Given the description of an element on the screen output the (x, y) to click on. 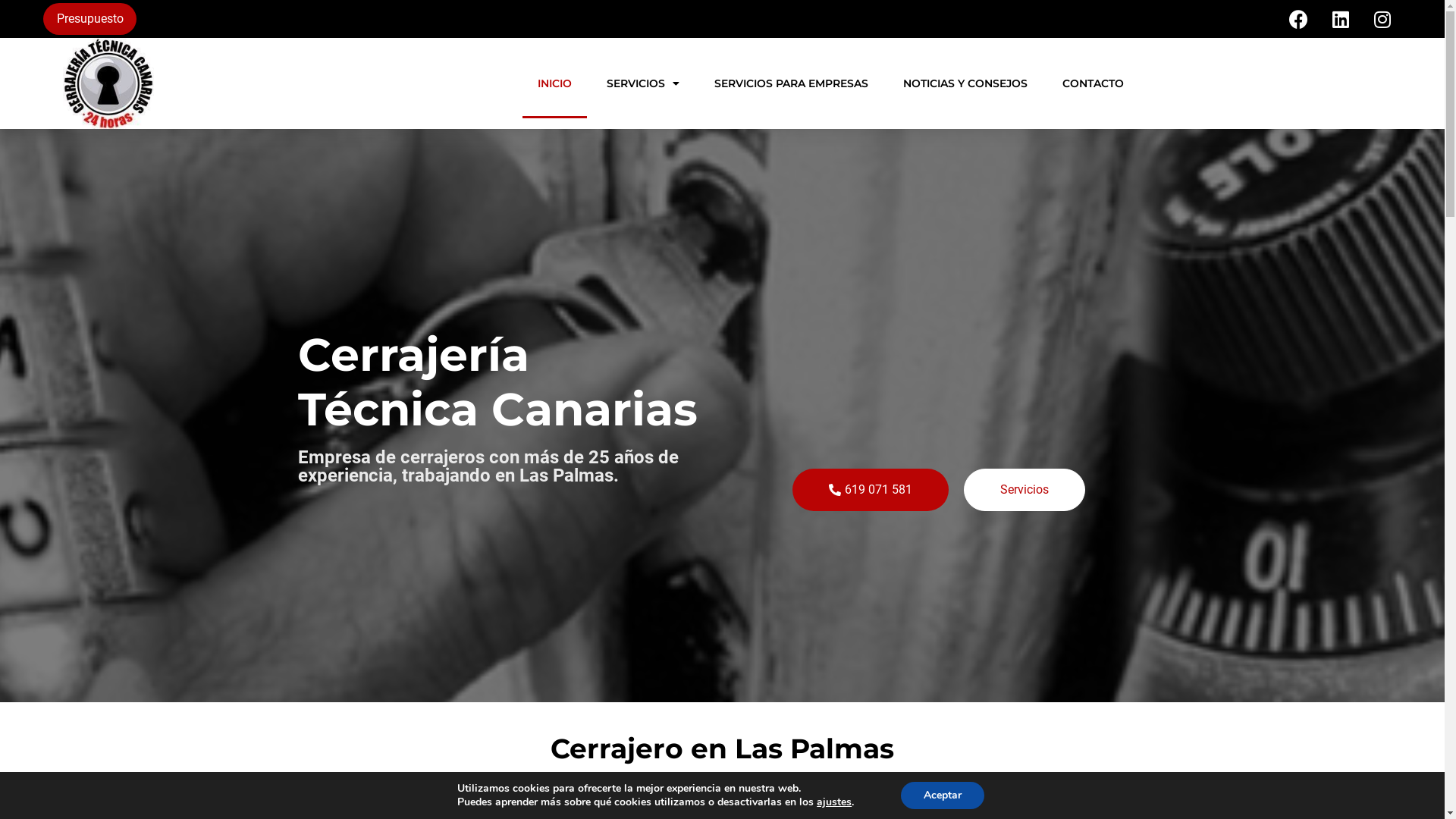
INICIO Element type: text (554, 83)
Servicios Element type: text (1023, 489)
SERVICIOS PARA EMPRESAS Element type: text (791, 83)
CONTACTO Element type: text (1093, 83)
NOTICIAS Y CONSEJOS Element type: text (965, 83)
Presupuesto Element type: text (89, 18)
619 071 581 Element type: text (869, 489)
Aceptar Element type: text (942, 795)
SERVICIOS Element type: text (642, 83)
